Given the description of an element on the screen output the (x, y) to click on. 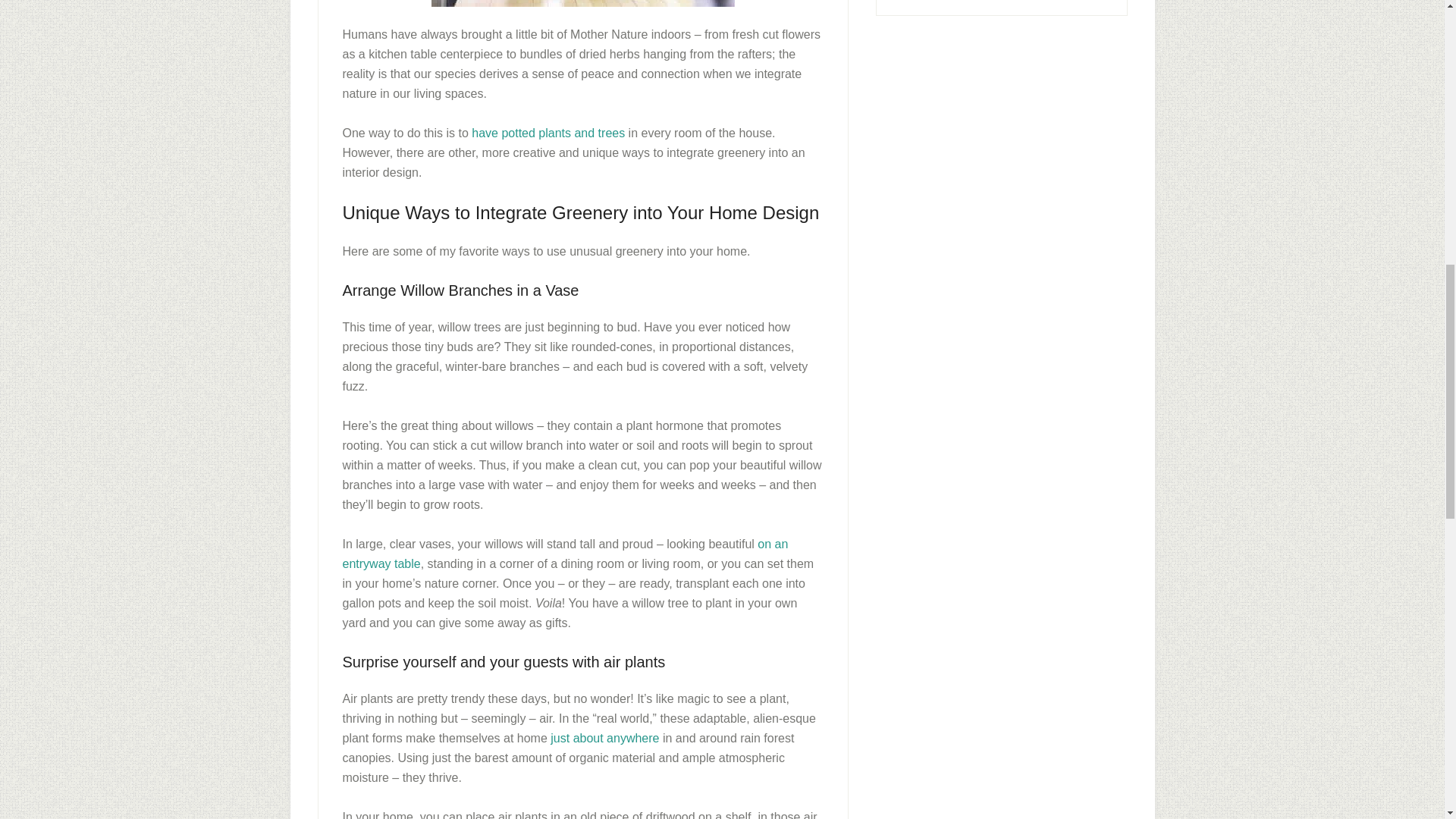
just about anywhere (604, 738)
on an entryway table (565, 553)
have potted plants and trees (547, 132)
